Given the description of an element on the screen output the (x, y) to click on. 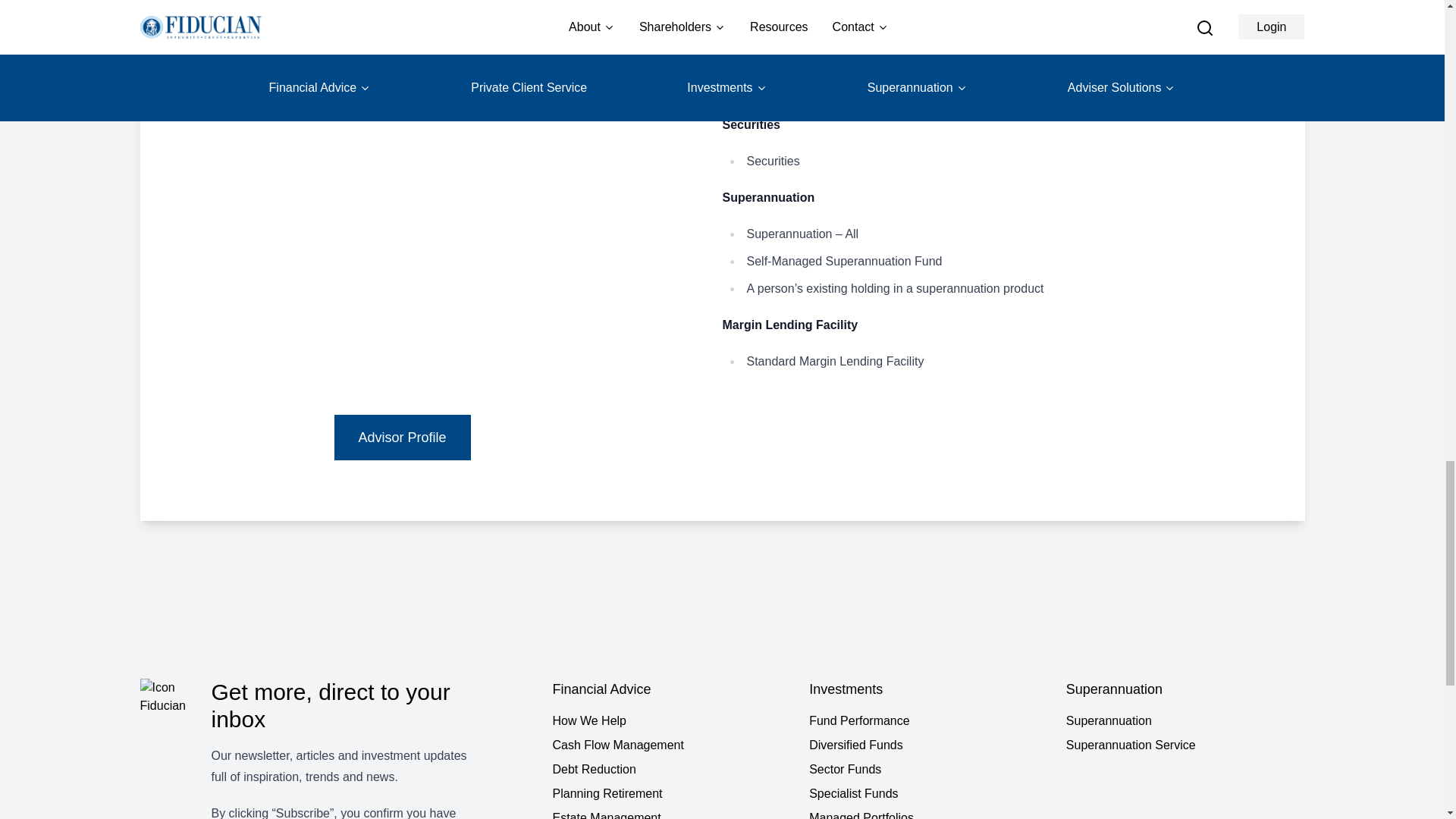
Superannuation (1184, 720)
Planning Retirement (670, 793)
How We Help (670, 720)
Superannuation Service (1184, 745)
Cash Flow Management (670, 745)
Estate Management (670, 814)
Debt Reduction (670, 769)
Sector Funds (928, 769)
Advisor Profile (401, 437)
Managed Portfolios (928, 814)
Specialist Funds (928, 793)
Fund Performance (928, 720)
Diversified Funds (928, 745)
